Given the description of an element on the screen output the (x, y) to click on. 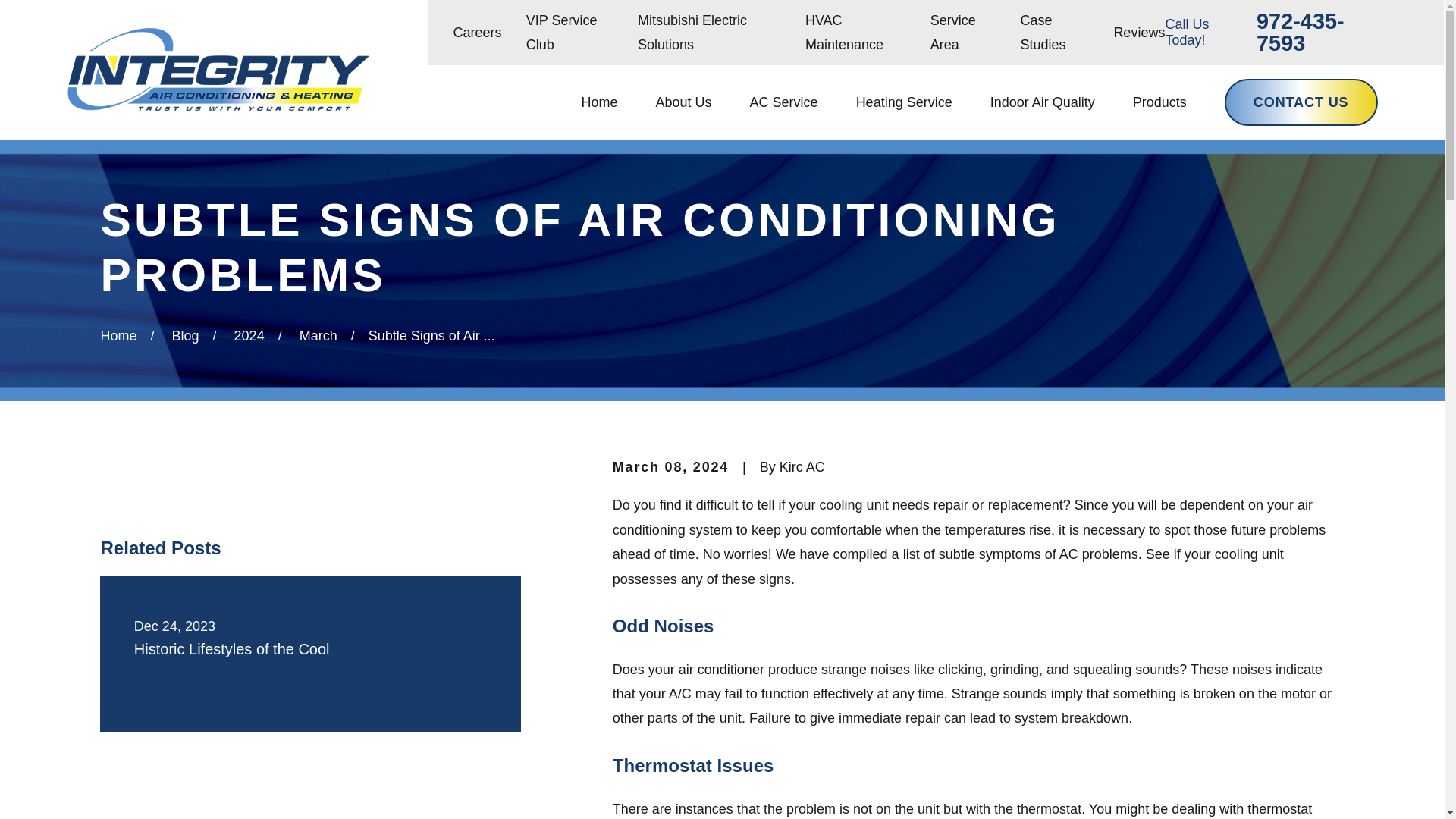
Careers (476, 32)
Heating Service (904, 102)
Home (598, 102)
Indoor Air Quality (1042, 102)
About Us (683, 102)
Home (217, 68)
Mitsubishi Electric Solutions (691, 32)
Reviews (1138, 32)
VIP Service Club (560, 32)
Go Home (118, 335)
